Given the description of an element on the screen output the (x, y) to click on. 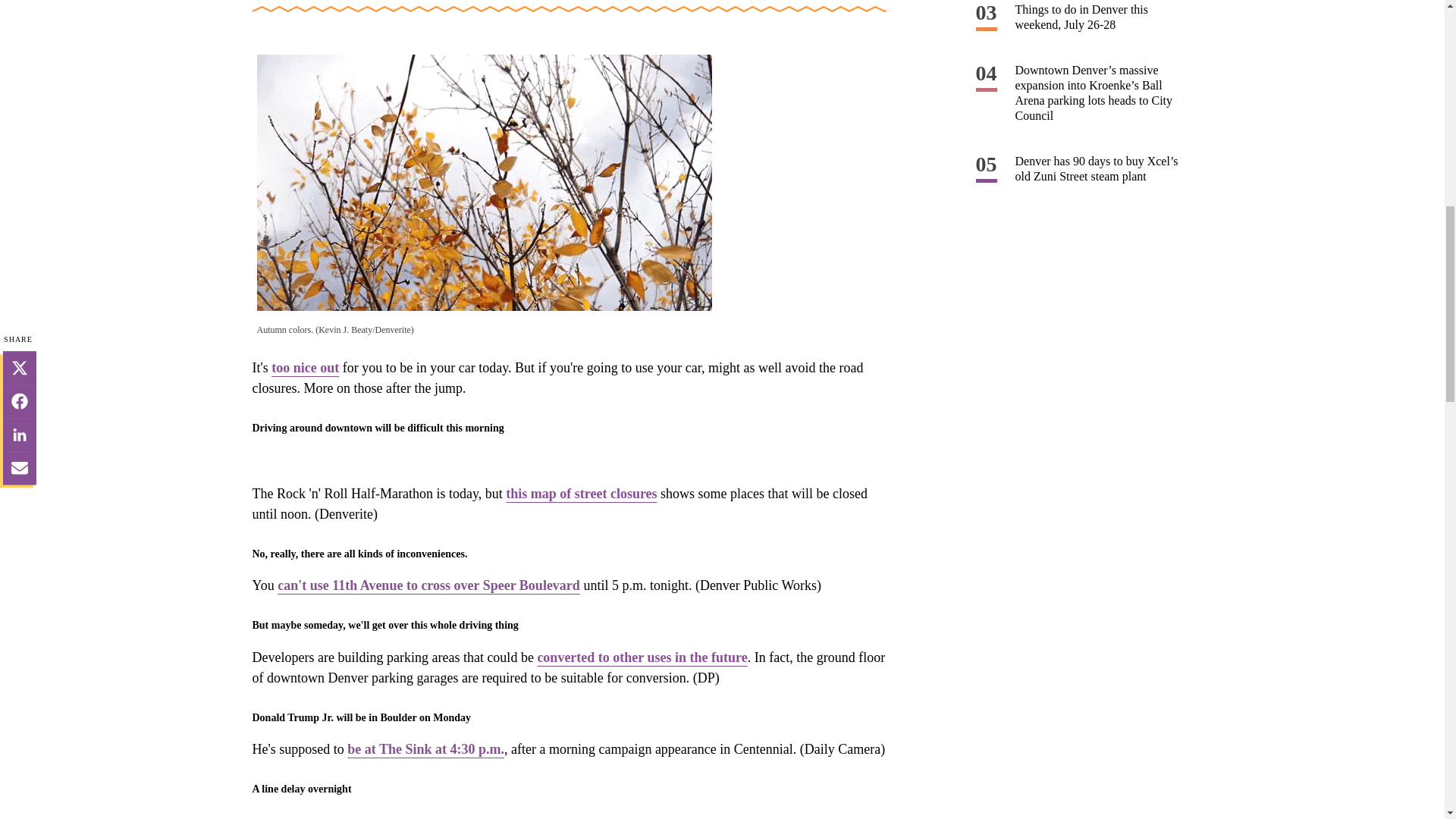
be at The Sink at 4:30 p.m. (425, 749)
converted to other uses in the future (641, 657)
can't use 11th Avenue to cross over Speer Boulevard (428, 585)
this map of street closures (580, 493)
too nice out (304, 367)
